Given the description of an element on the screen output the (x, y) to click on. 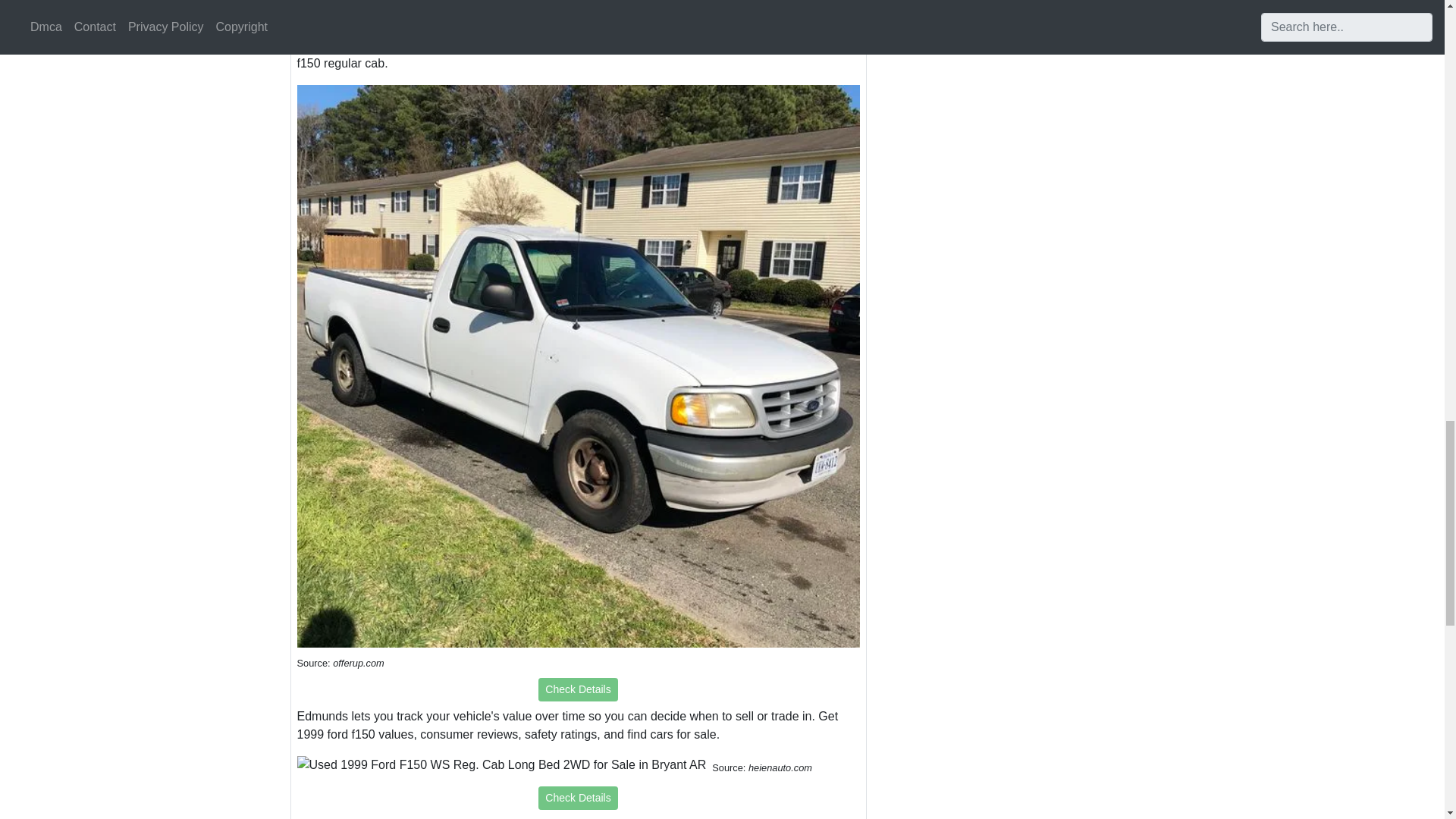
Check Details (577, 797)
Check Details (577, 689)
Check Details (577, 18)
